Given the description of an element on the screen output the (x, y) to click on. 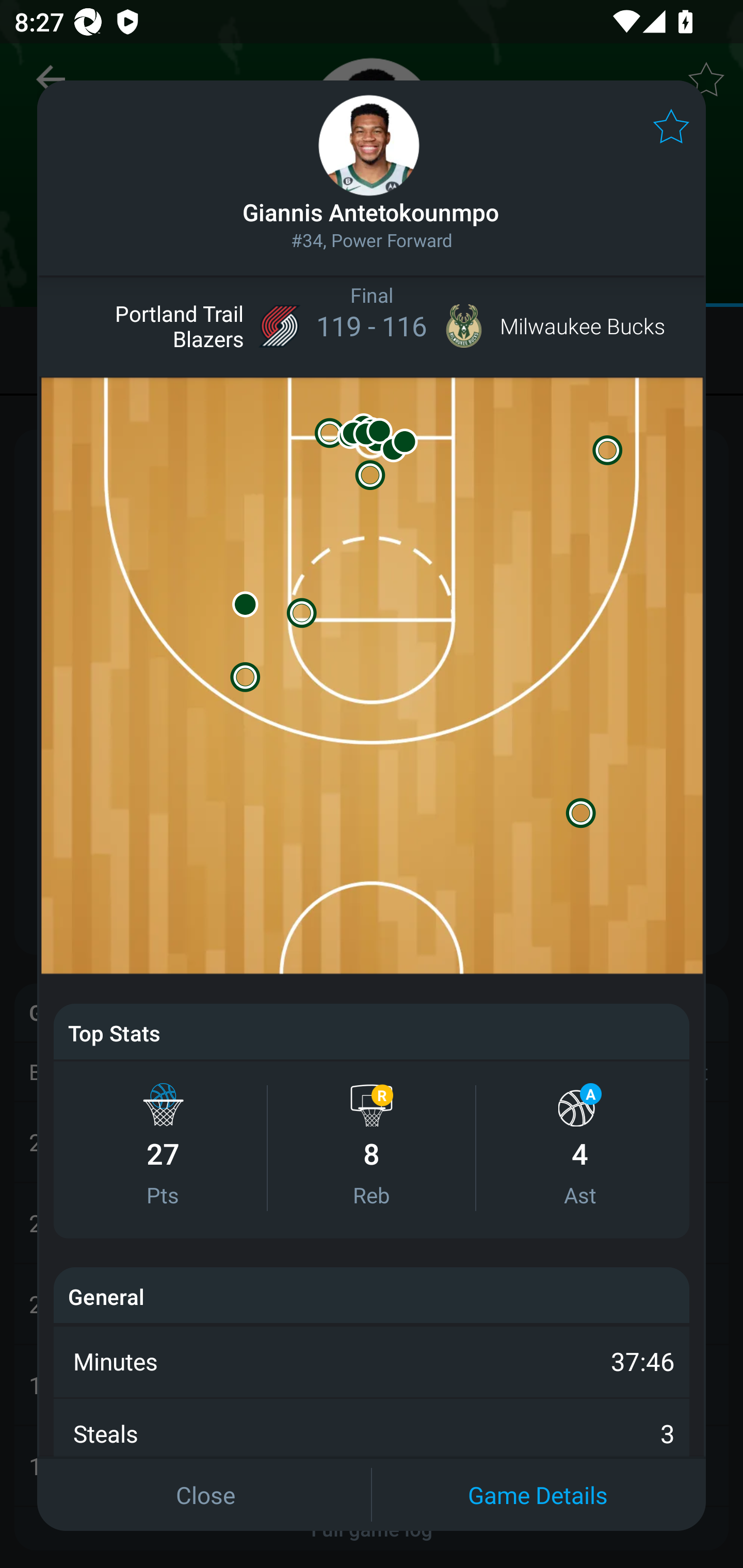
General (106, 1296)
Close (205, 1494)
Game Details (537, 1494)
